Given the description of an element on the screen output the (x, y) to click on. 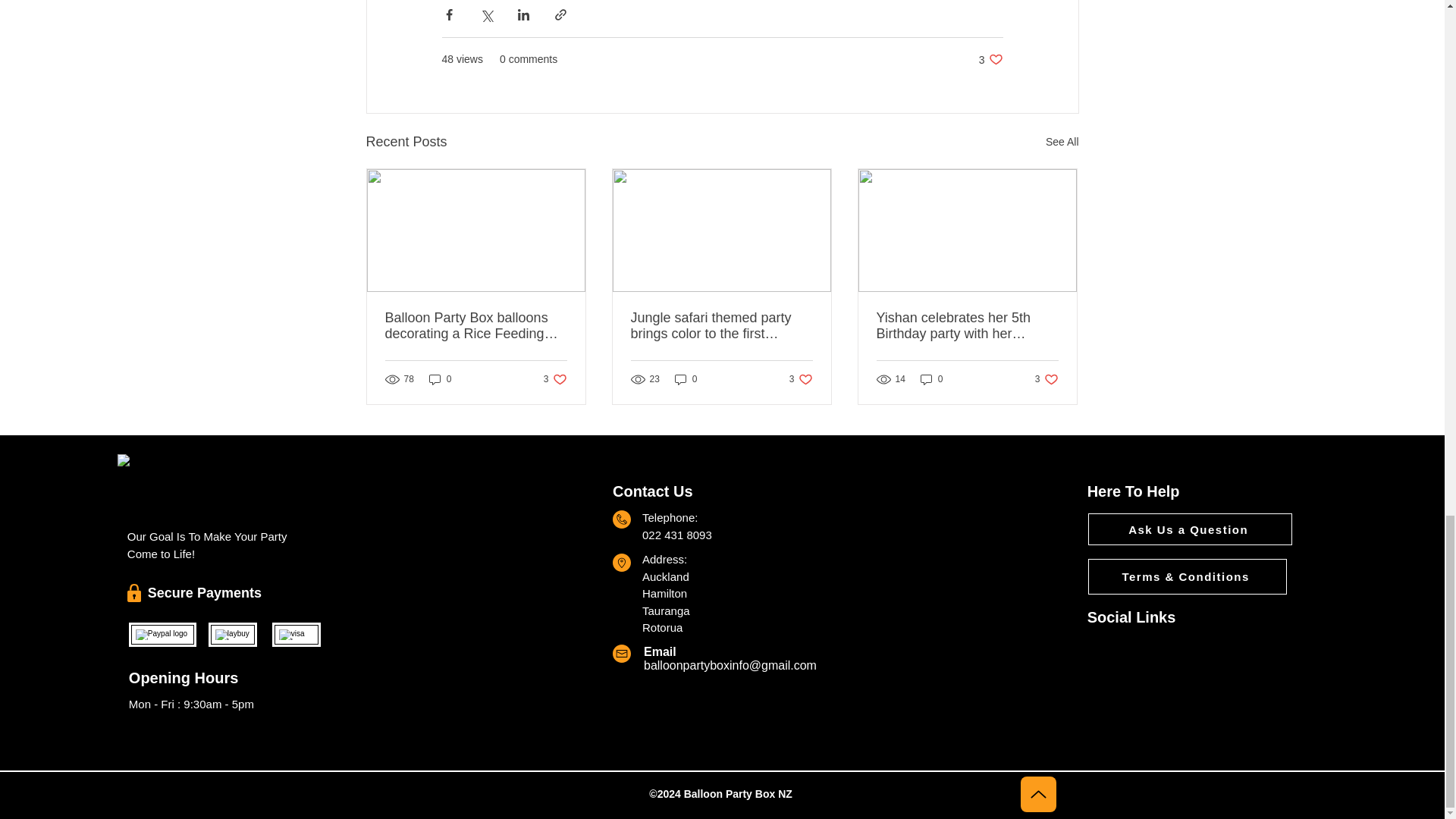
0 (800, 379)
See All (440, 379)
TERMS AND CONDITIONS.pdf (1061, 142)
0 (1108, 701)
